Given the description of an element on the screen output the (x, y) to click on. 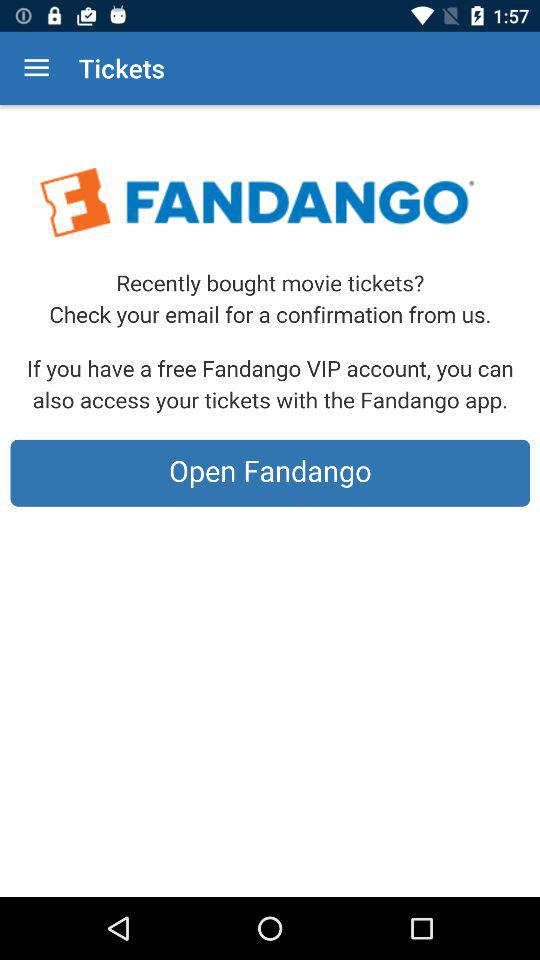
open app (270, 501)
